Given the description of an element on the screen output the (x, y) to click on. 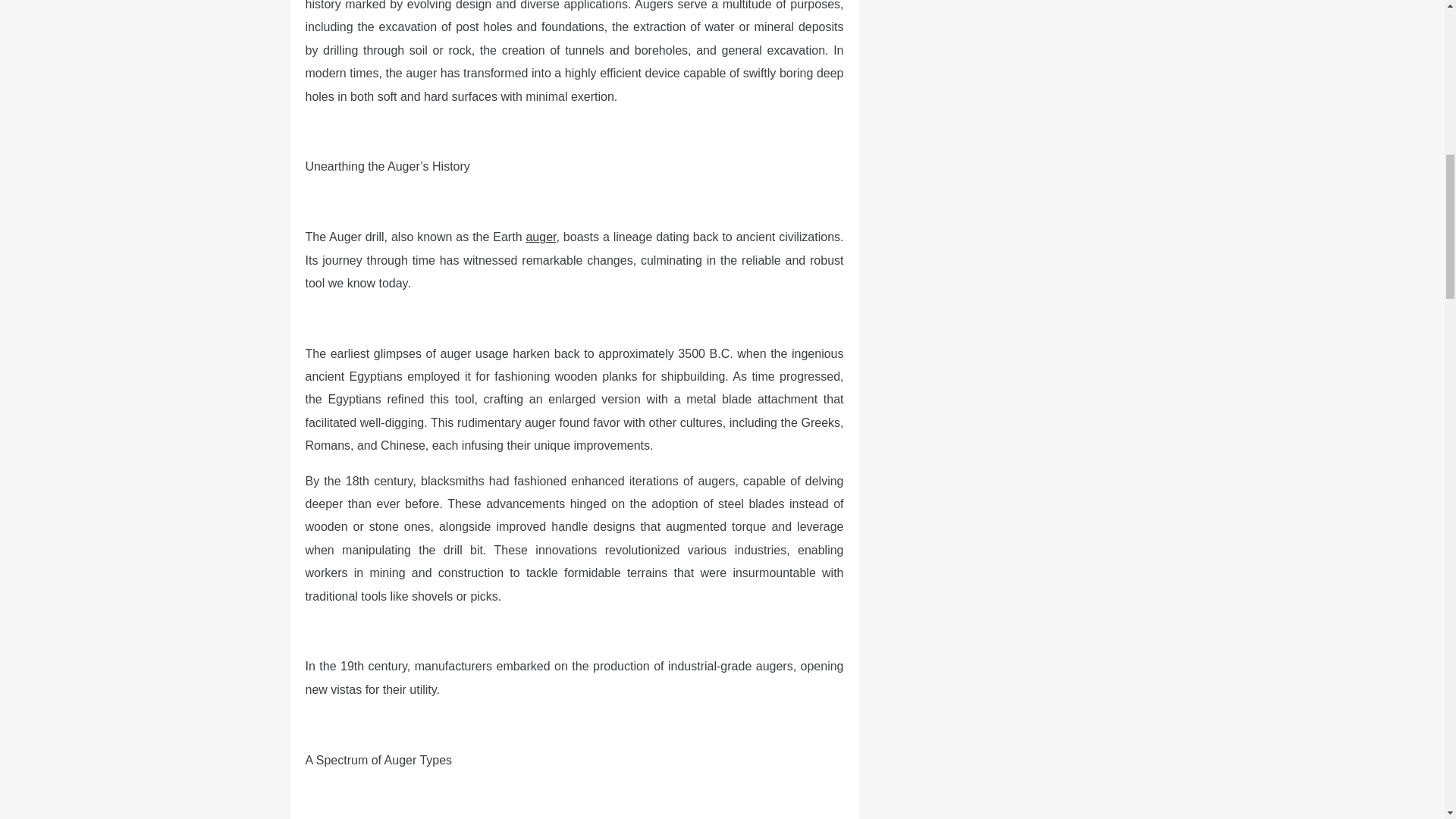
auger (540, 236)
